Given the description of an element on the screen output the (x, y) to click on. 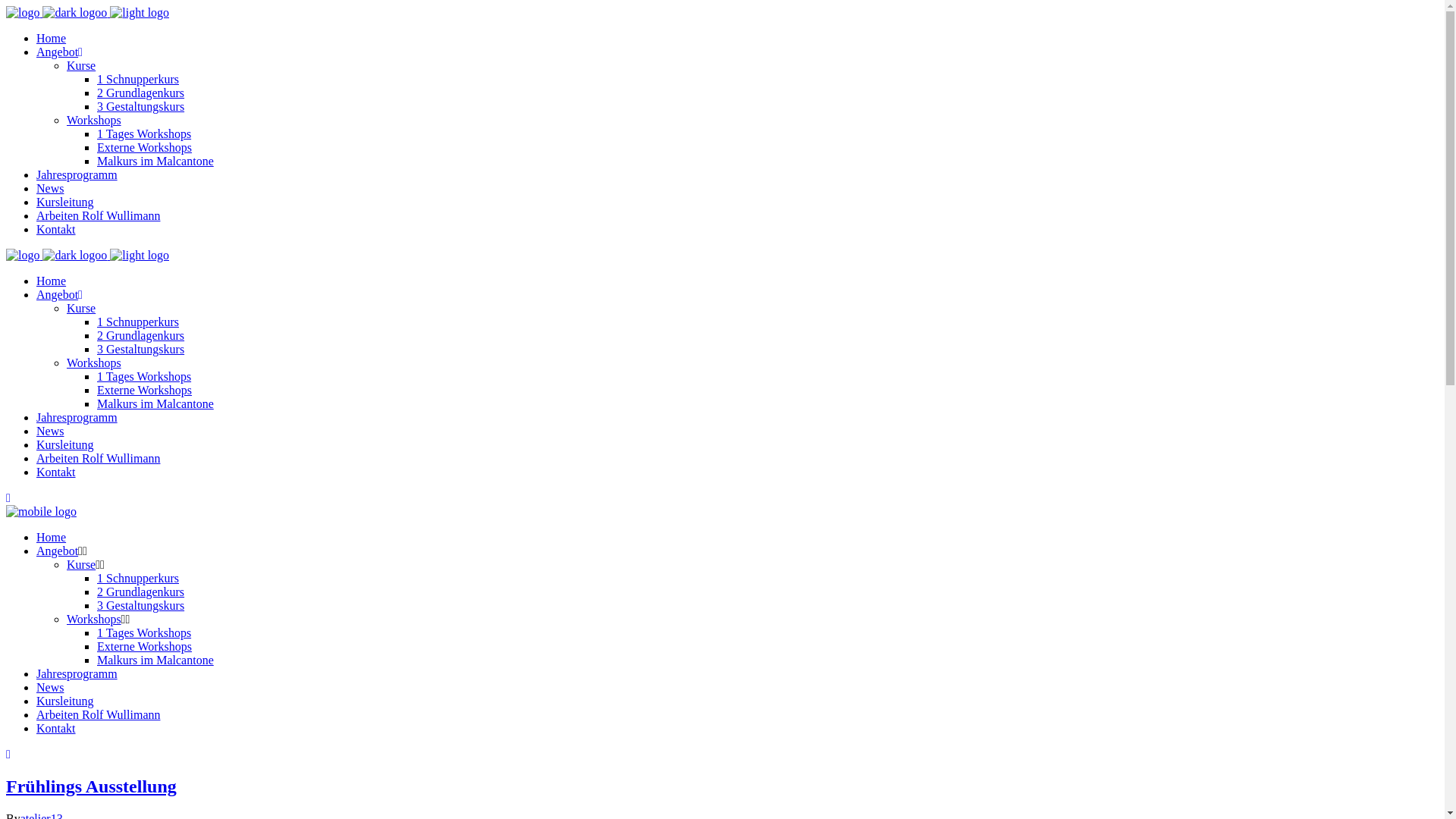
Kursleitung Element type: text (65, 444)
2 Grundlagenkurs Element type: text (140, 591)
News Element type: text (49, 188)
1 Tages Workshops Element type: text (144, 632)
Workshops Element type: text (93, 618)
Externe Workshops Element type: text (144, 147)
Malkurs im Malcantone Element type: text (155, 403)
Angebot Element type: text (57, 550)
Angebot Element type: text (59, 51)
1 Schnupperkurs Element type: text (137, 577)
Kurse Element type: text (80, 65)
Arbeiten Rolf Wullimann Element type: text (98, 215)
Malkurs im Malcantone Element type: text (155, 160)
Kurse Element type: text (80, 564)
2 Grundlagenkurs Element type: text (140, 335)
Jahresprogramm Element type: text (76, 673)
Workshops Element type: text (93, 119)
Kontakt Element type: text (55, 471)
2 Grundlagenkurs Element type: text (140, 92)
Kontakt Element type: text (55, 228)
Externe Workshops Element type: text (144, 646)
Workshops Element type: text (93, 362)
3 Gestaltungskurs Element type: text (140, 605)
1 Tages Workshops Element type: text (144, 376)
Kontakt Element type: text (55, 727)
Jahresprogramm Element type: text (76, 174)
News Element type: text (49, 686)
Externe Workshops Element type: text (144, 389)
Angebot Element type: text (59, 294)
3 Gestaltungskurs Element type: text (140, 348)
News Element type: text (49, 430)
1 Tages Workshops Element type: text (144, 133)
Home Element type: text (50, 37)
Malkurs im Malcantone Element type: text (155, 659)
Home Element type: text (50, 280)
1 Schnupperkurs Element type: text (137, 78)
Kursleitung Element type: text (65, 201)
Arbeiten Rolf Wullimann Element type: text (98, 457)
Home Element type: text (50, 536)
3 Gestaltungskurs Element type: text (140, 106)
Arbeiten Rolf Wullimann Element type: text (98, 714)
Jahresprogramm Element type: text (76, 417)
1 Schnupperkurs Element type: text (137, 321)
Kurse Element type: text (80, 307)
Kursleitung Element type: text (65, 700)
